Given the description of an element on the screen output the (x, y) to click on. 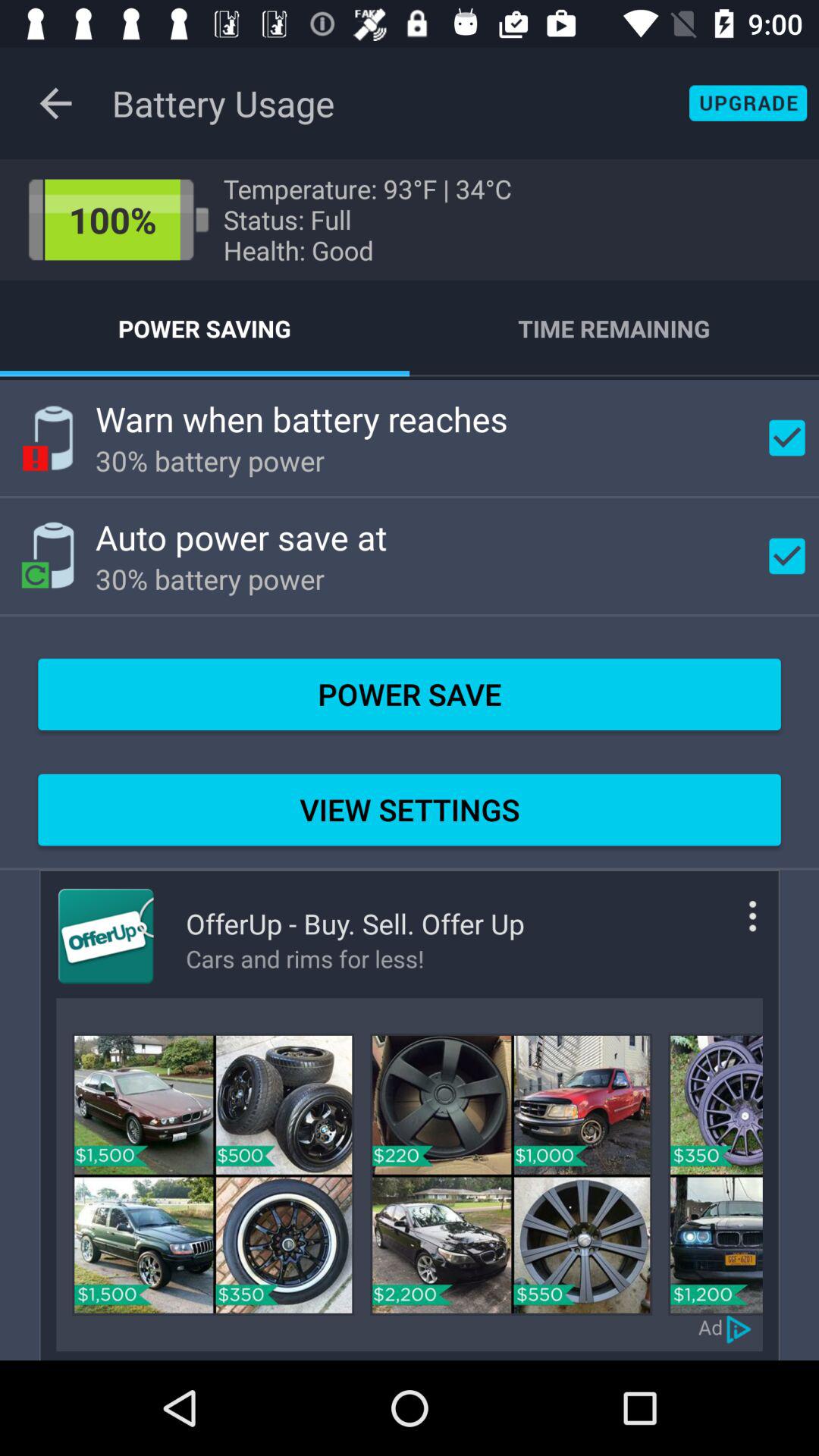
open icon below the cars and rims (511, 1174)
